Given the description of an element on the screen output the (x, y) to click on. 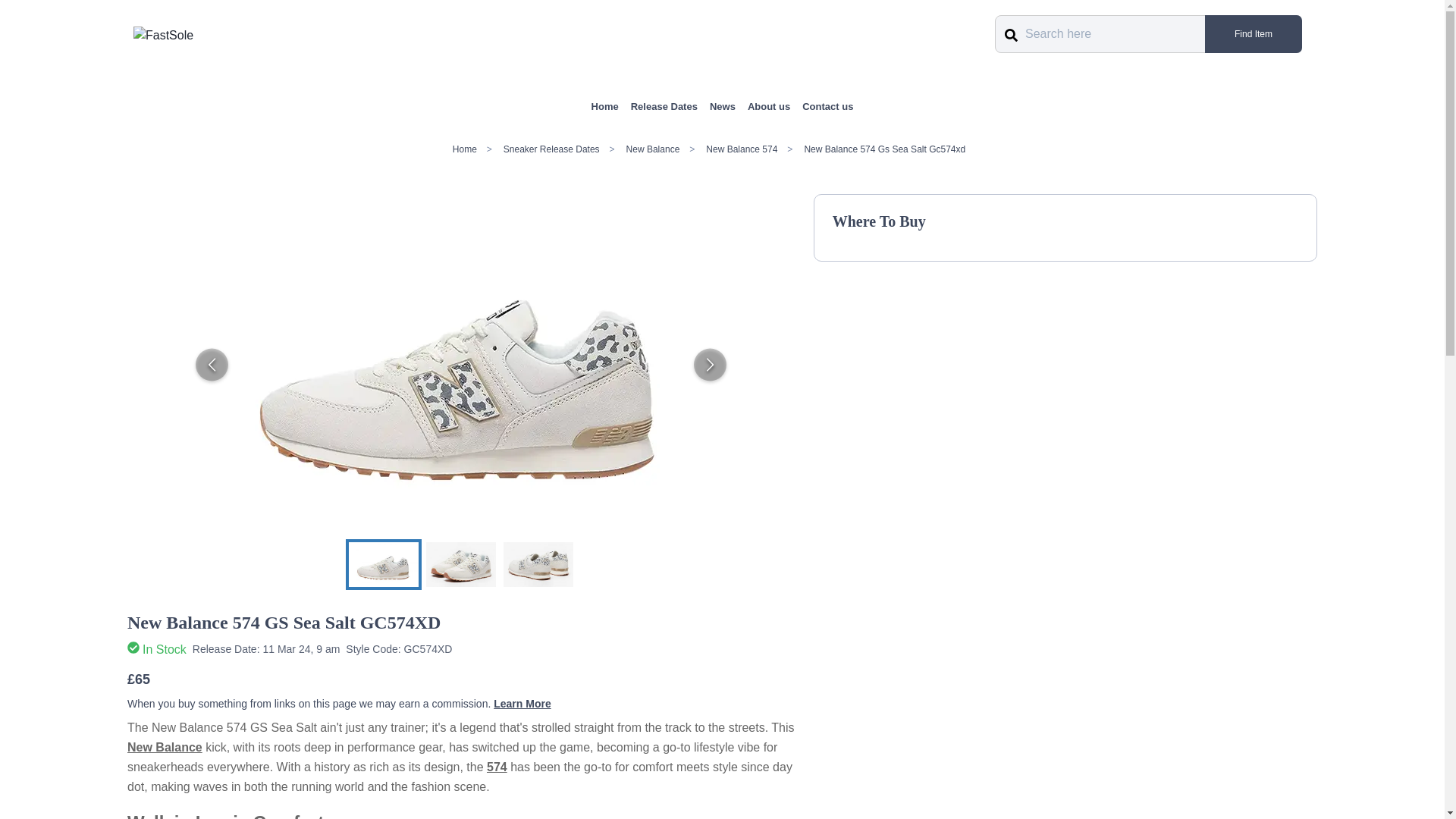
New Balance 574 GS Sea Salt GC574XD back corner (538, 563)
Home (604, 106)
Find Item (1253, 34)
Release Dates (663, 106)
New Balance 574 GS Sea Salt GC574XD front corner (461, 563)
New Balance 574 GS Sea Salt GC574XD featured image (384, 563)
FastSole (163, 35)
